Given the description of an element on the screen output the (x, y) to click on. 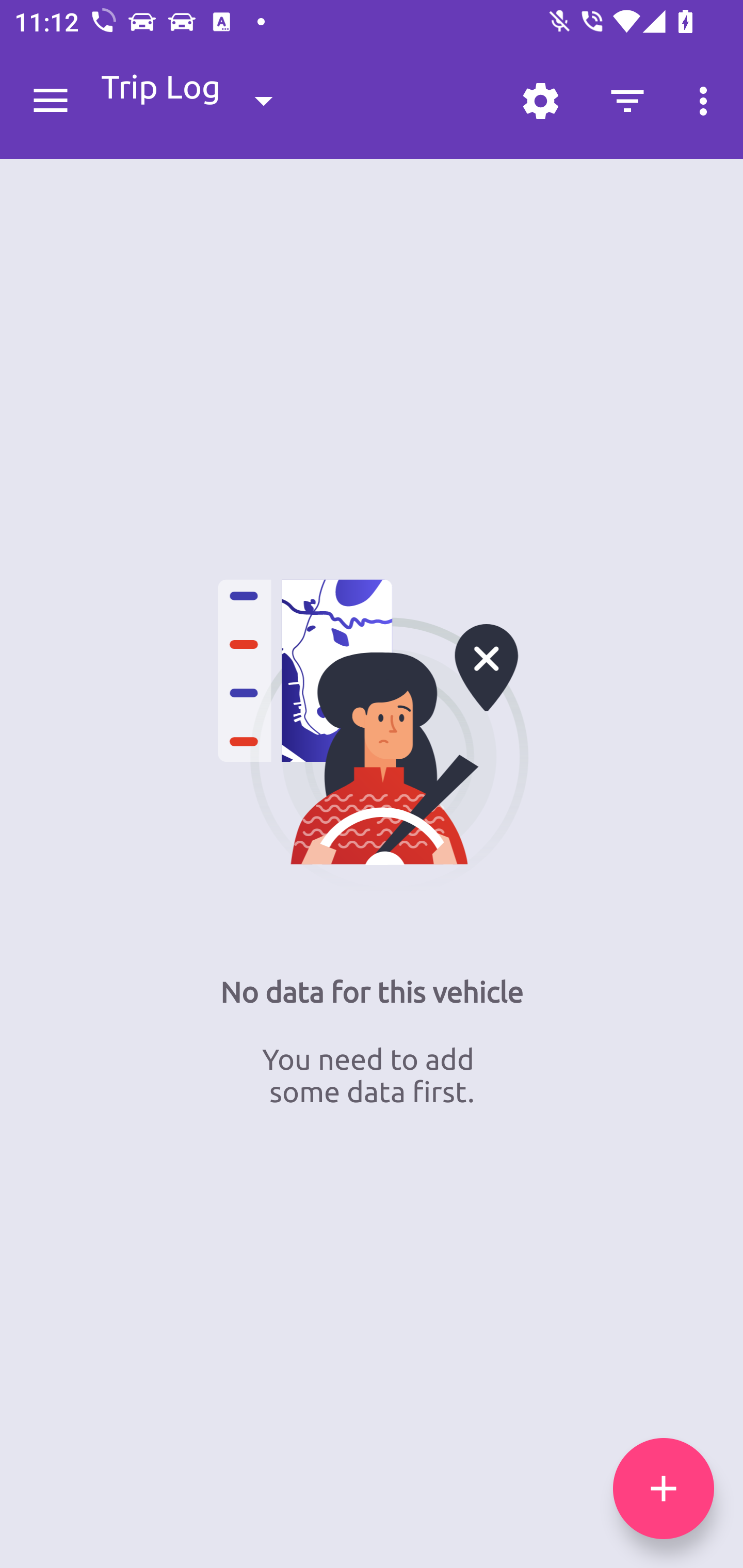
Fuelio (50, 101)
Settings (540, 101)
Filter (626, 101)
More options (706, 101)
Trip Log (203, 100)
